Given the description of an element on the screen output the (x, y) to click on. 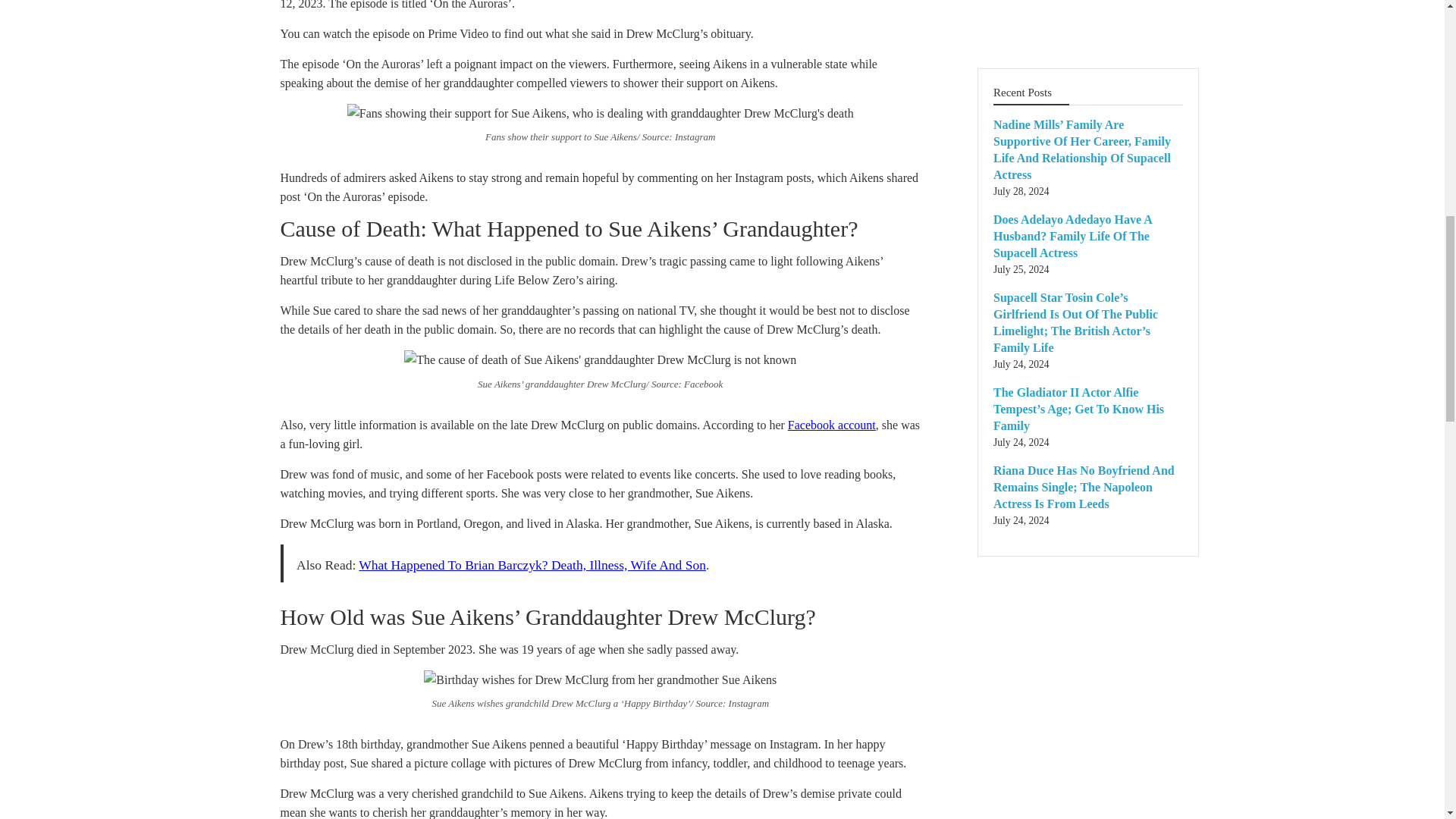
What Happened To Brian Barczyk? Death, Illness, Wife And Son (532, 564)
Facebook account (831, 424)
